Given the description of an element on the screen output the (x, y) to click on. 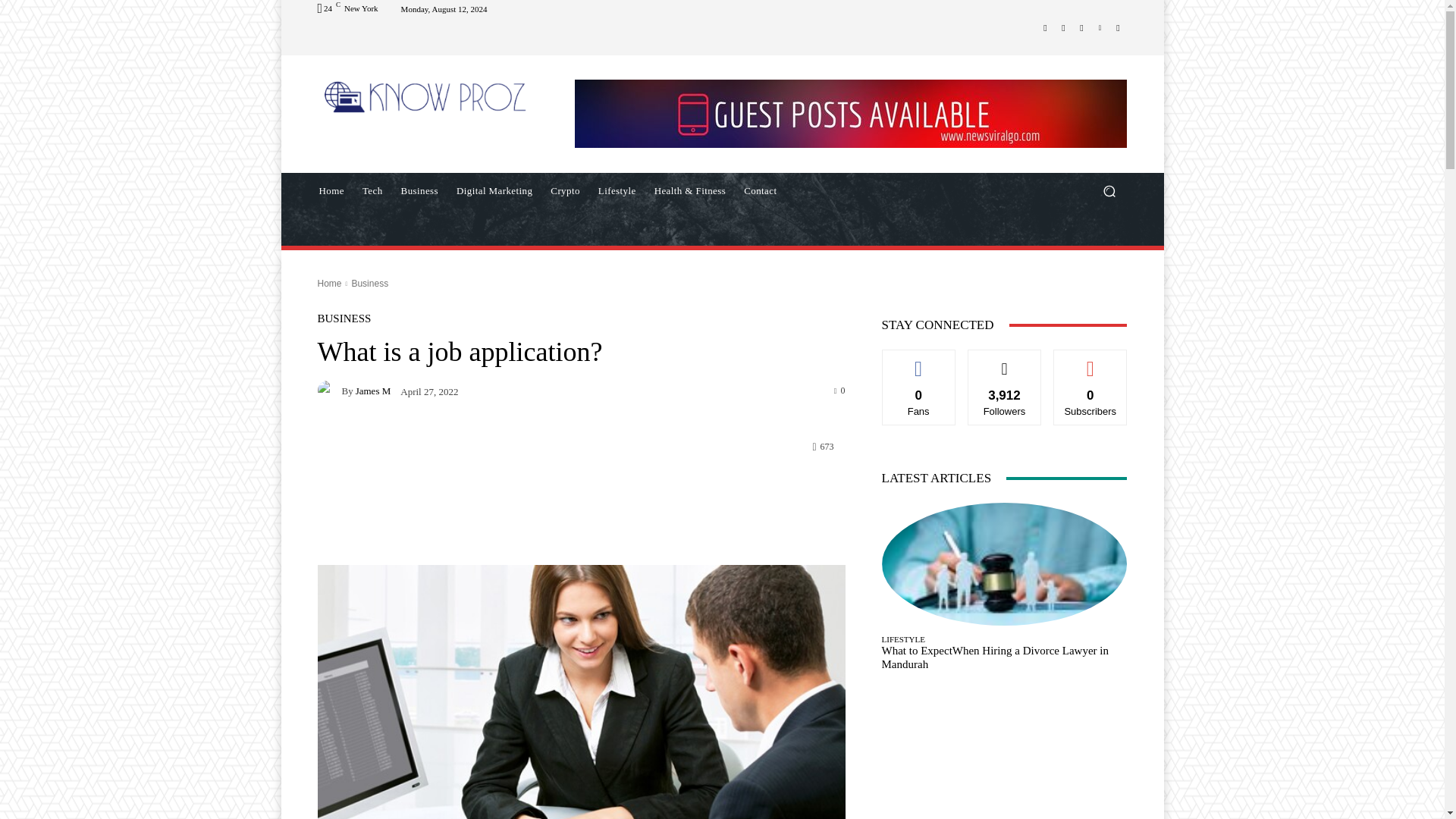
Youtube (1117, 27)
Facebook (1044, 27)
Home (328, 283)
Vimeo (1099, 27)
BUSINESS (344, 318)
Business (418, 190)
Instagram (1062, 27)
Lifestyle (617, 190)
Twitter (1080, 27)
Home (330, 190)
